Given the description of an element on the screen output the (x, y) to click on. 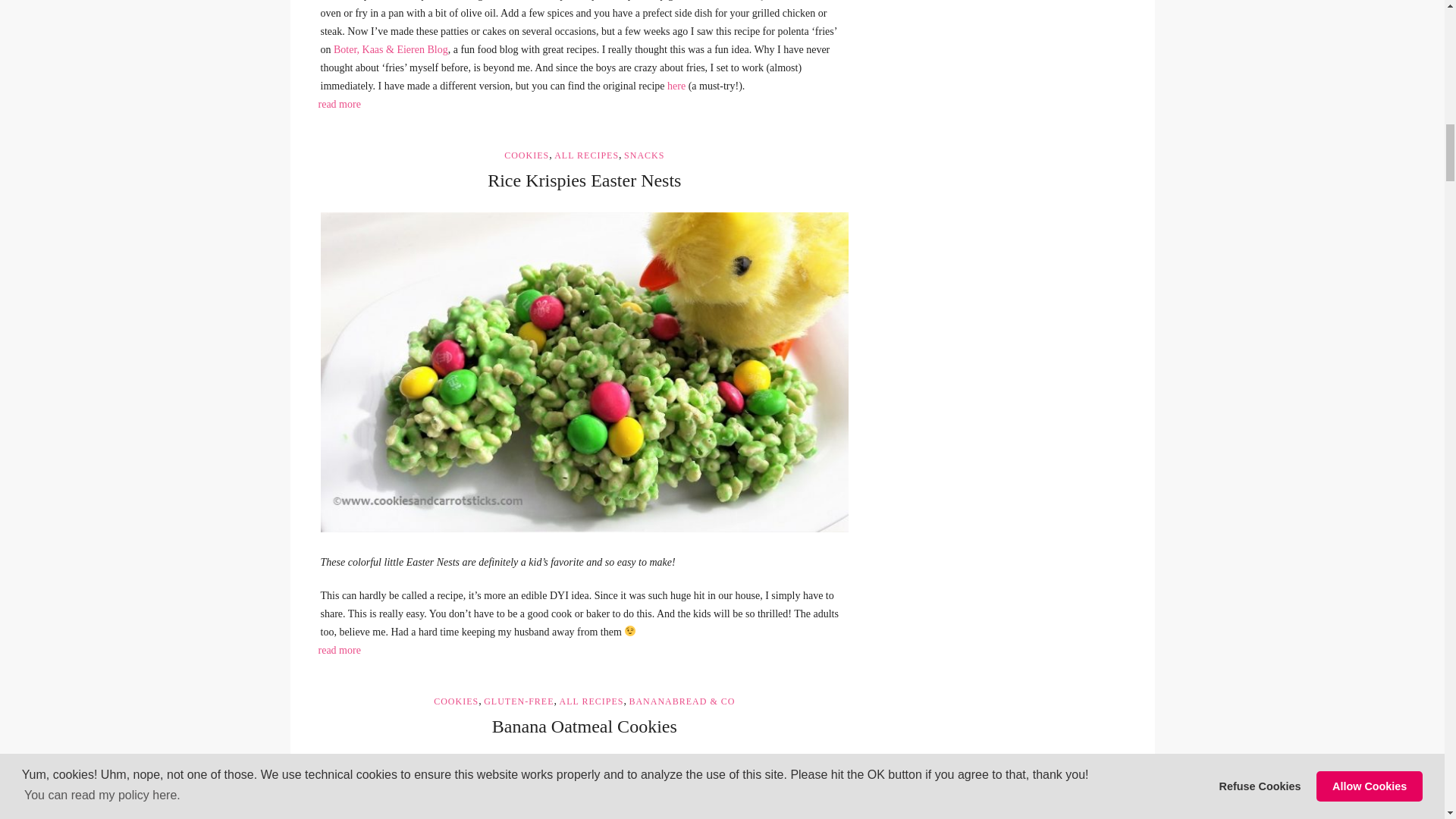
Banana Oatmeal Cookies (584, 788)
